Given the description of an element on the screen output the (x, y) to click on. 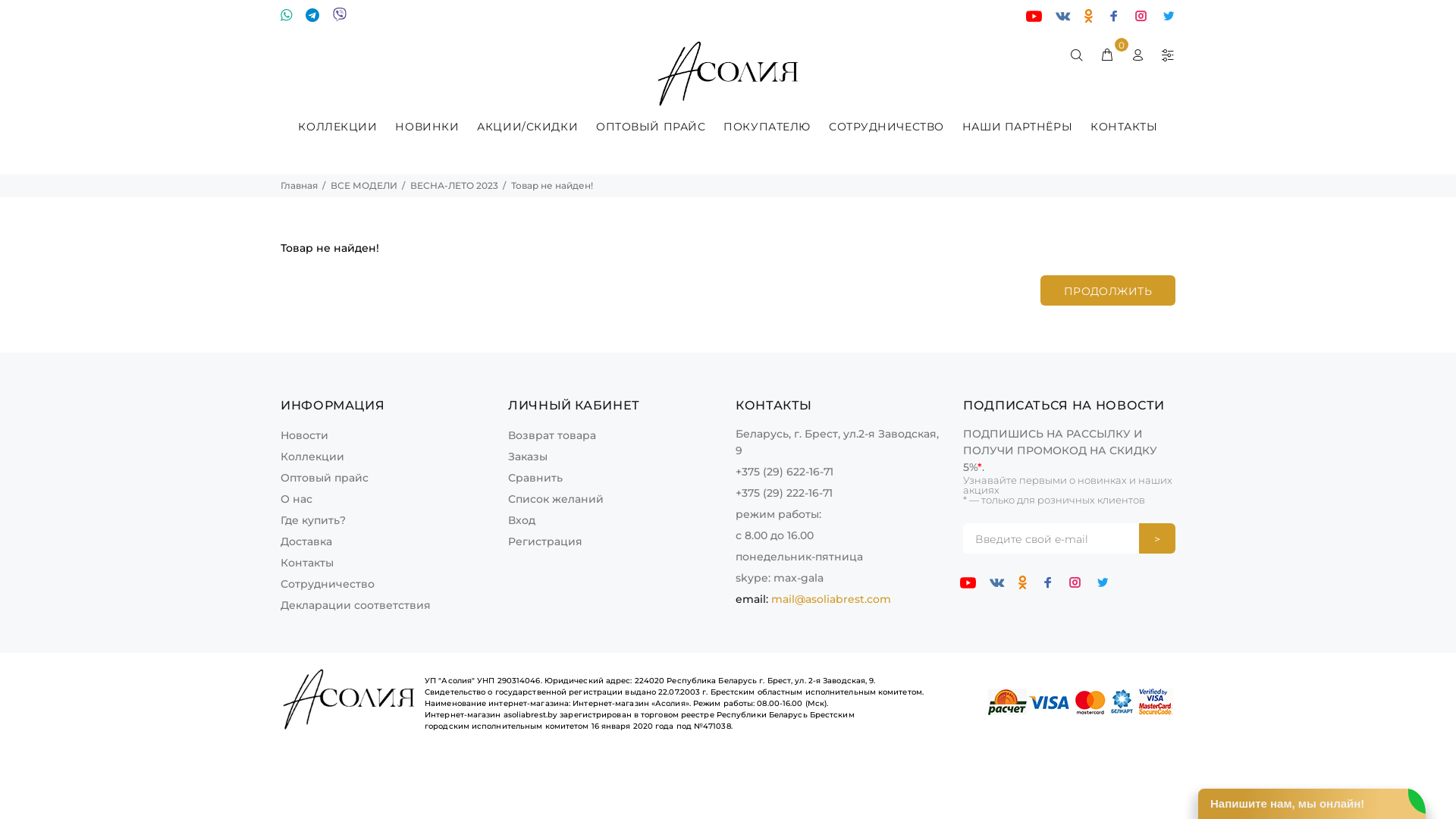
> Element type: text (1157, 538)
mail@asoliabrest.com Element type: text (831, 598)
0 Element type: text (1106, 55)
asoliabrest Element type: hover (728, 74)
